Given the description of an element on the screen output the (x, y) to click on. 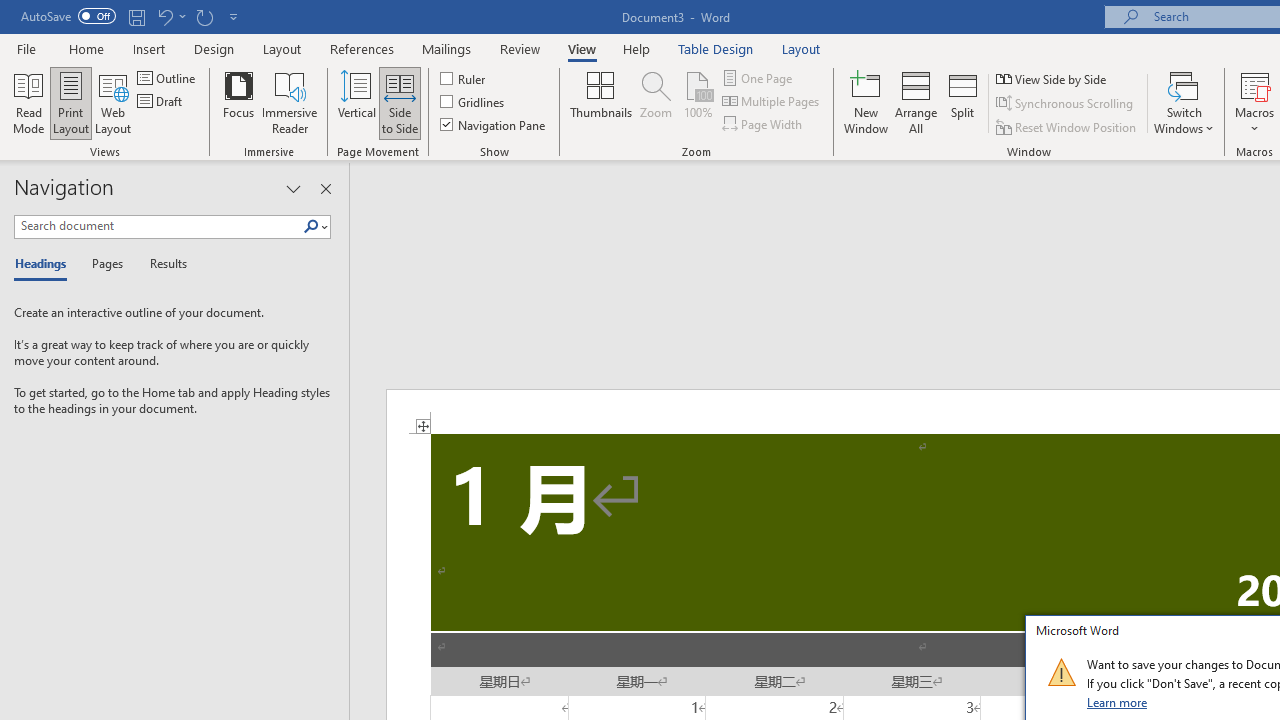
Synchronous Scrolling (1066, 103)
Draft (161, 101)
Switch Windows (1184, 102)
100% (698, 102)
Reset Window Position (1068, 126)
Outline (168, 78)
Macros (1254, 102)
Vertical (356, 102)
